Given the description of an element on the screen output the (x, y) to click on. 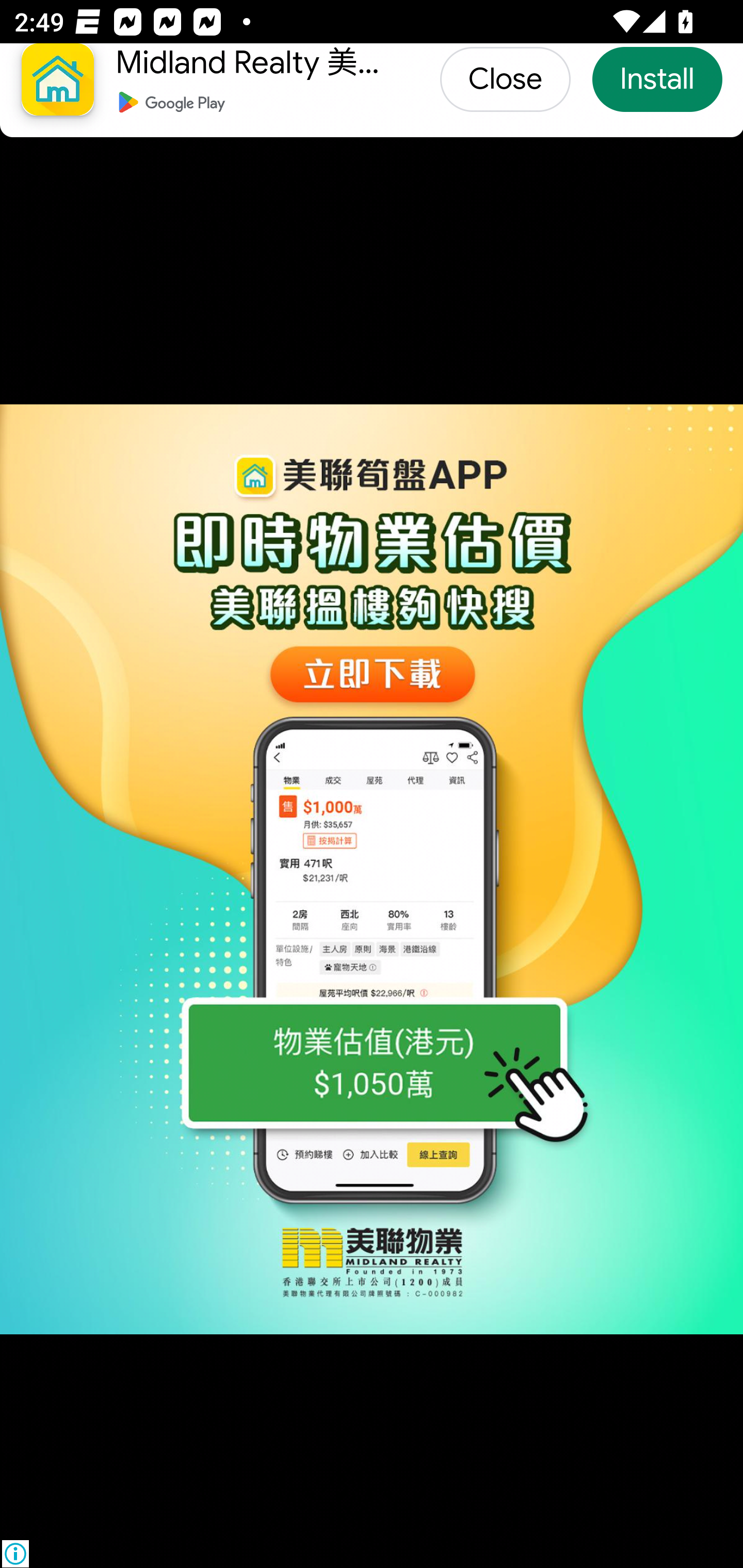
Close (504, 79)
Install (656, 79)
